Given the description of an element on the screen output the (x, y) to click on. 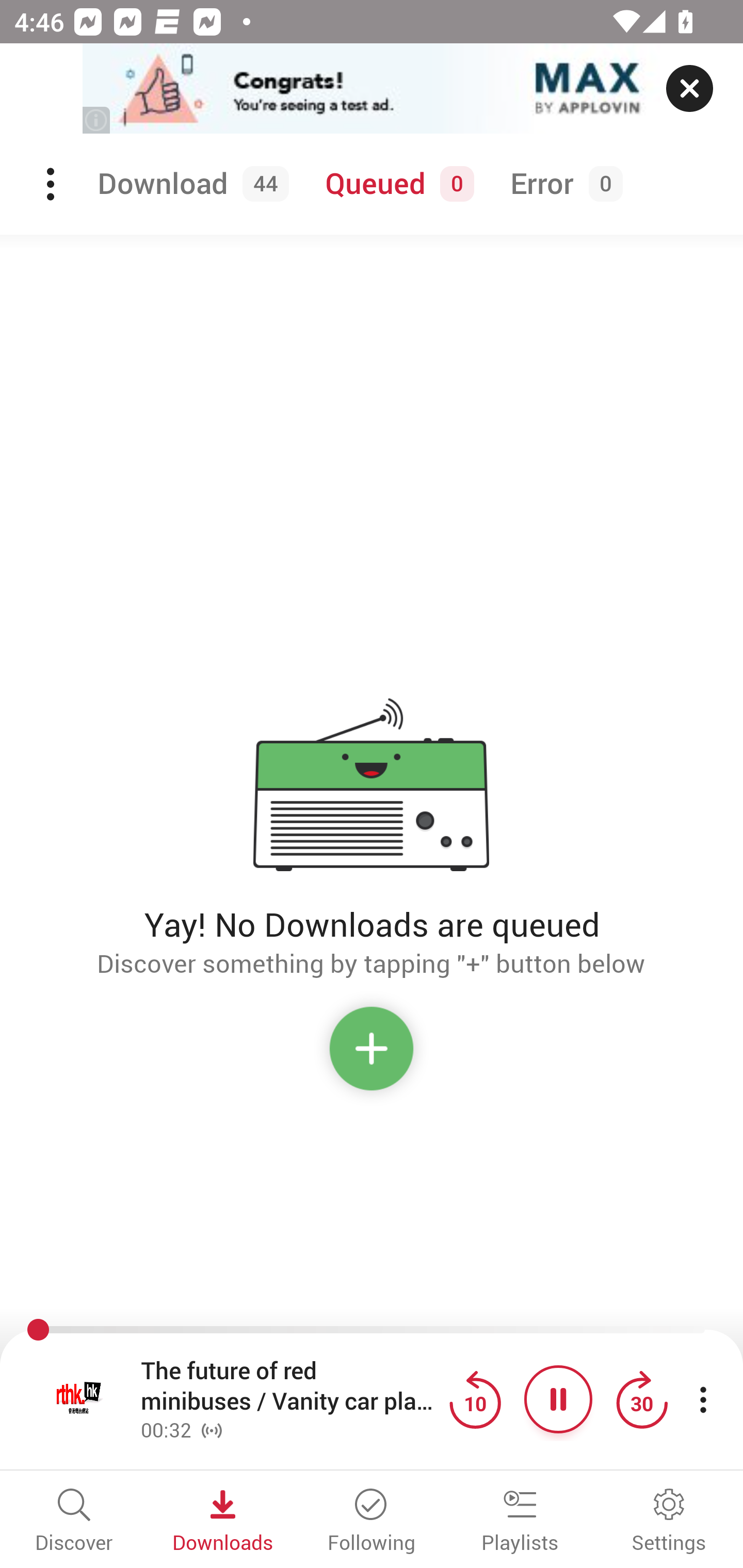
app-monetization (371, 88)
(i) (96, 119)
Menu (52, 184)
 Download 44 (189, 184)
 Queued 0 (396, 184)
 Error 0 (562, 184)
Discover something (371, 1055)
Open fullscreen player (79, 1399)
More player controls (703, 1399)
Pause button (558, 1398)
Jump back (475, 1399)
Jump forward (641, 1399)
Discover (74, 1521)
Downloads (222, 1521)
Following (371, 1521)
Playlists (519, 1521)
Settings (668, 1521)
